Given the description of an element on the screen output the (x, y) to click on. 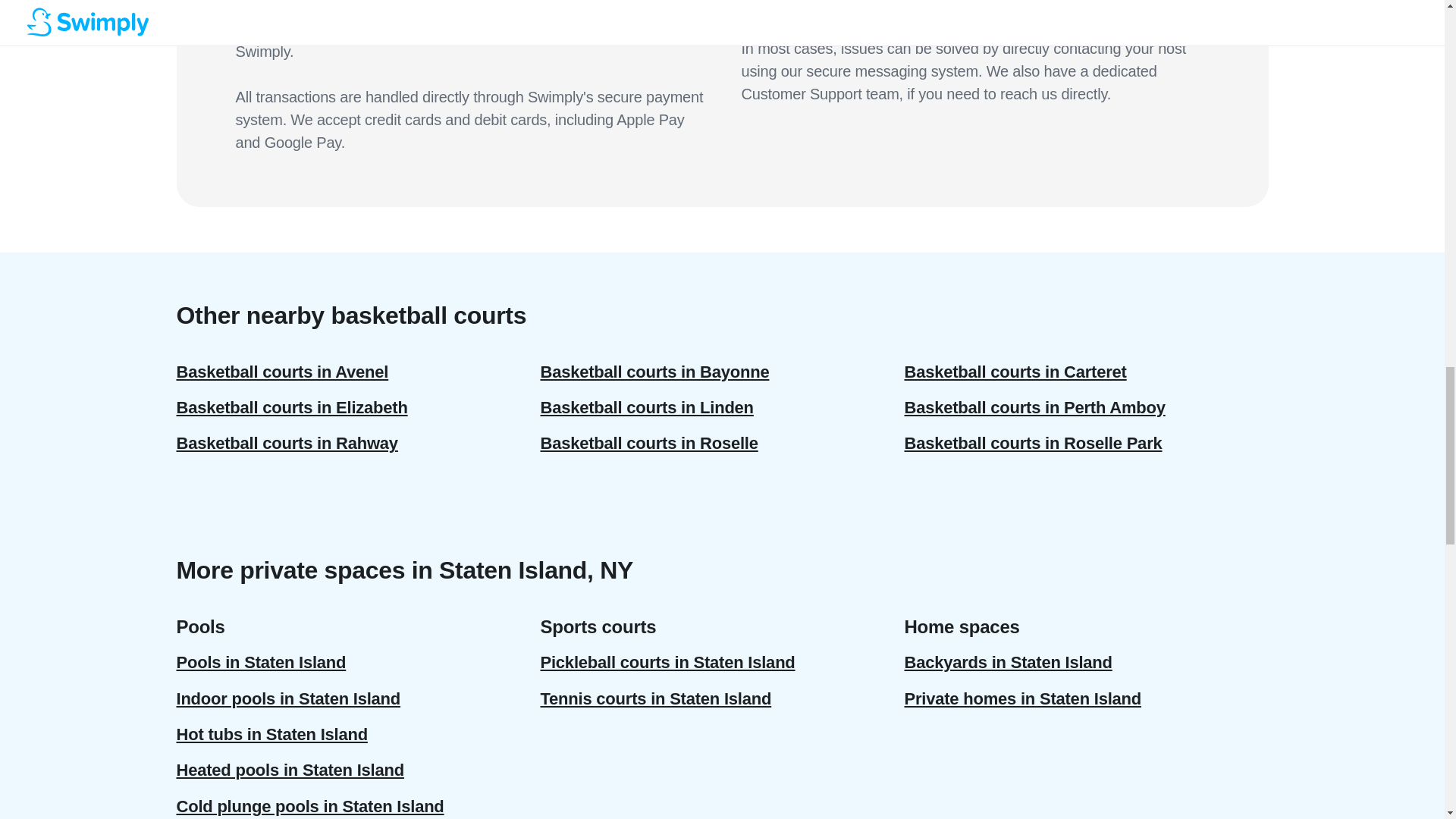
Basketball courts in Bayonne (722, 371)
Indoor pools in Staten Island (358, 698)
Hot tubs in Staten Island (358, 734)
Basketball courts in Roselle Park (1086, 443)
Basketball courts in Carteret (1086, 371)
Basketball courts in Rahway (358, 443)
Basketball courts in Elizabeth (358, 407)
Cold plunge pools in Staten Island (358, 803)
Backyards in Staten Island (1086, 662)
Tennis courts in Staten Island (722, 698)
Basketball courts in Linden (722, 407)
Private homes in Staten Island (1086, 698)
Basketball courts in Roselle (722, 443)
Pools in Staten Island (358, 662)
Heated pools in Staten Island (358, 769)
